Given the description of an element on the screen output the (x, y) to click on. 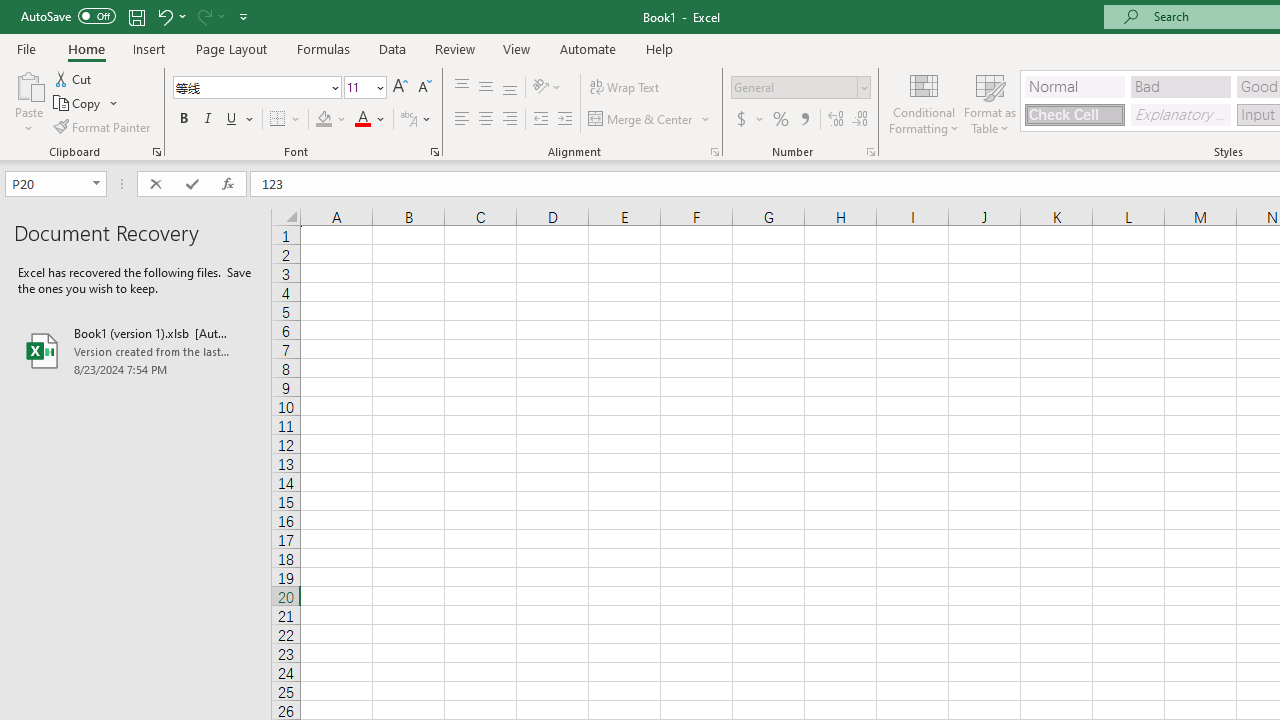
Align Left (461, 119)
Font (256, 87)
Decrease Font Size (424, 87)
Office Clipboard... (156, 151)
Format Cell Font (434, 151)
Bad (1180, 86)
Merge & Center (641, 119)
Font Color (370, 119)
Borders (285, 119)
